Given the description of an element on the screen output the (x, y) to click on. 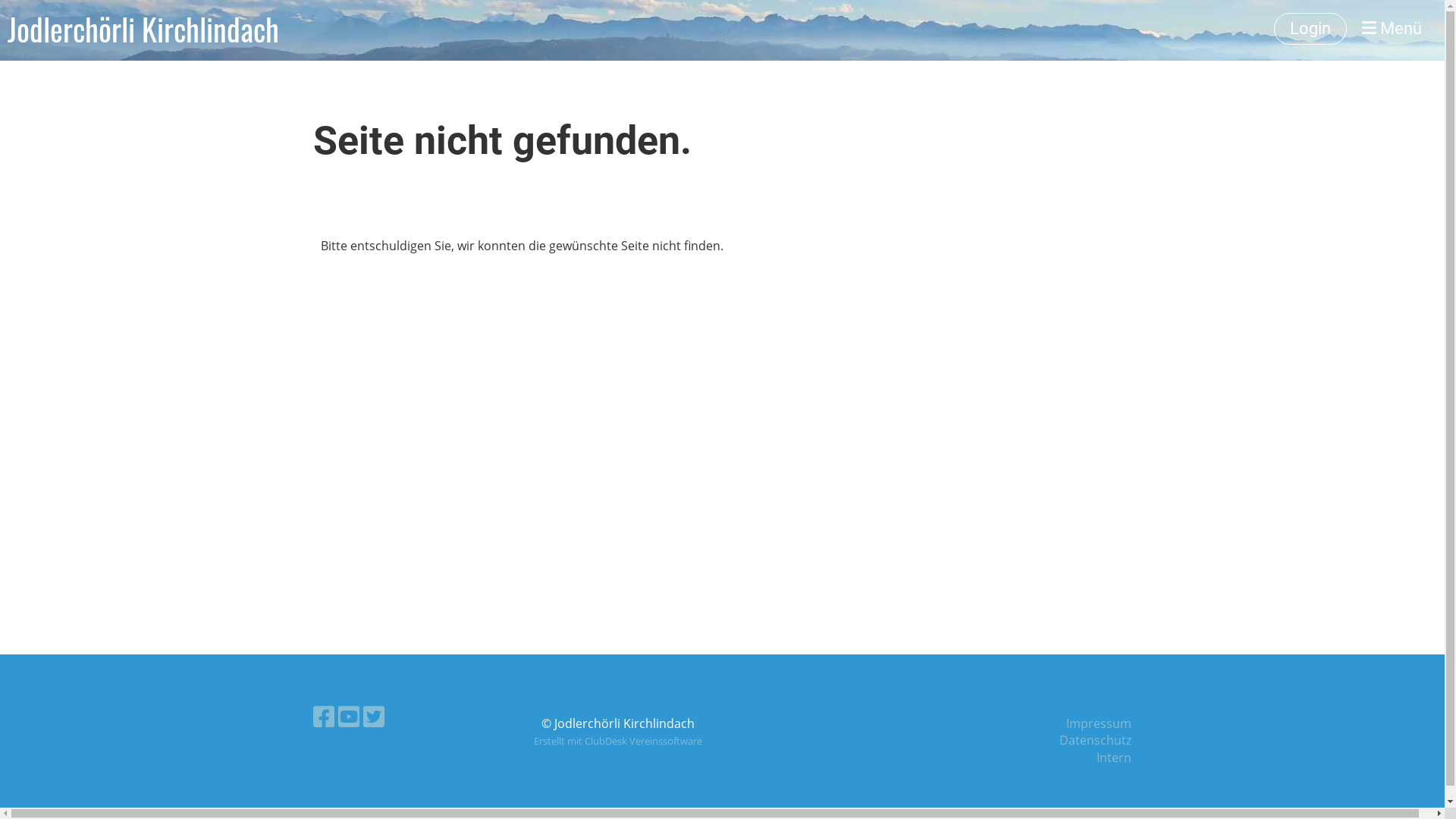
Erstellt mit ClubDesk Vereinssoftware Element type: text (617, 740)
Datenschutz Element type: text (1095, 739)
Login Element type: text (1310, 28)
Intern Element type: text (1113, 757)
Impressum Element type: text (1098, 723)
